Given the description of an element on the screen output the (x, y) to click on. 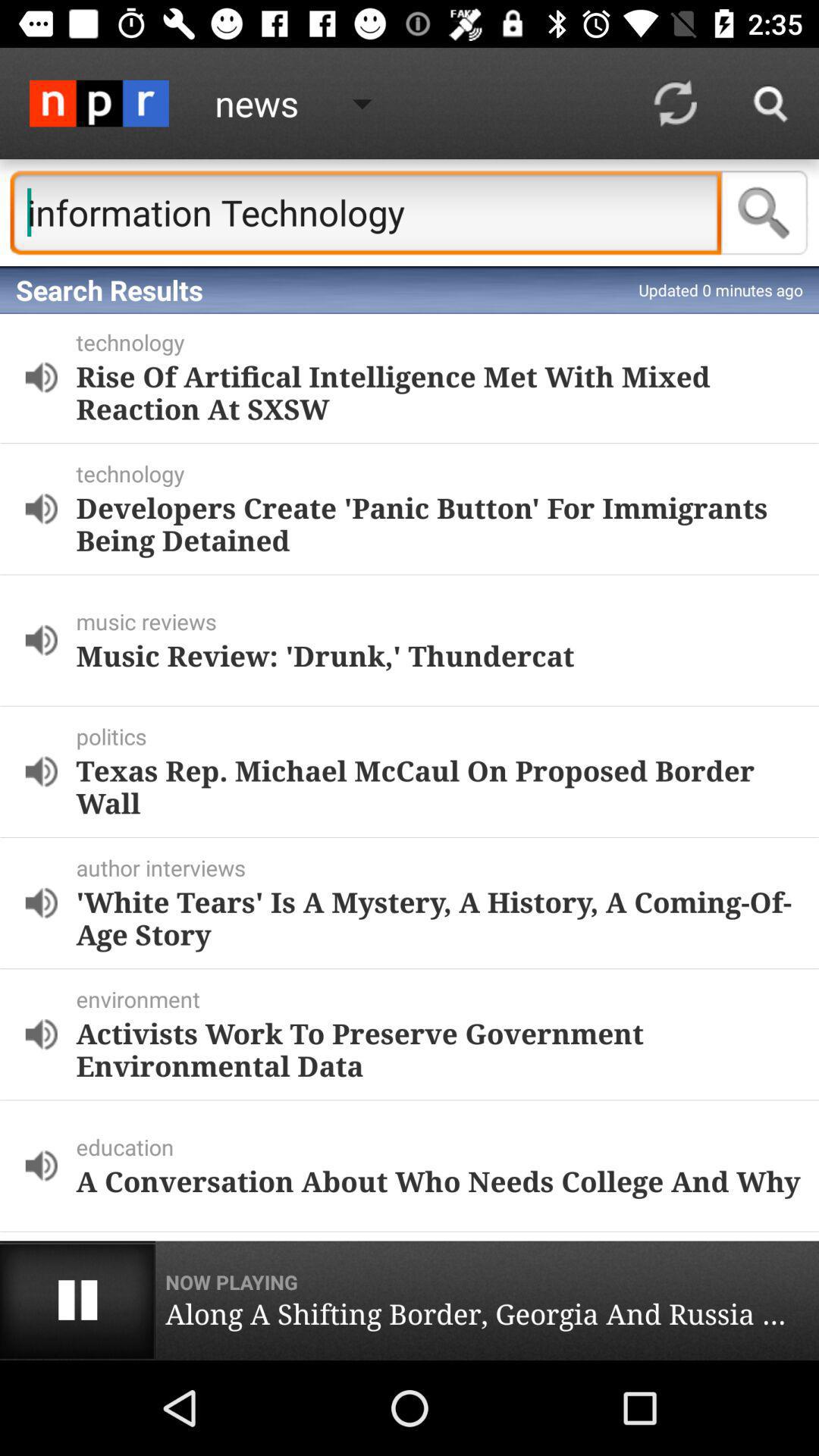
select item below technology (438, 392)
